Given the description of an element on the screen output the (x, y) to click on. 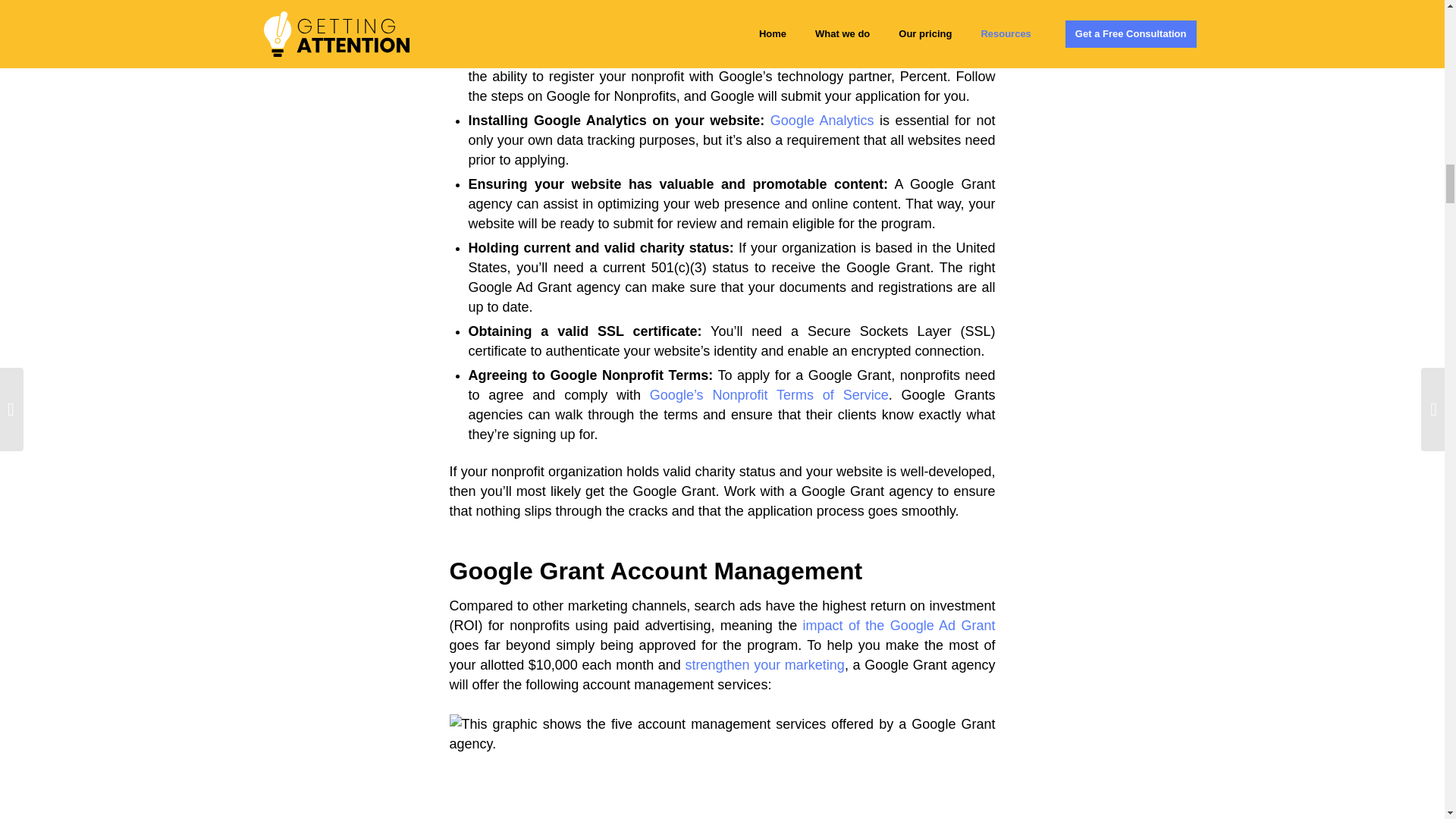
Google Workspace for Nonprofits (866, 12)
Google Analytics (822, 120)
impact of the Google Ad Grant (899, 625)
Percent (603, 56)
